Given the description of an element on the screen output the (x, y) to click on. 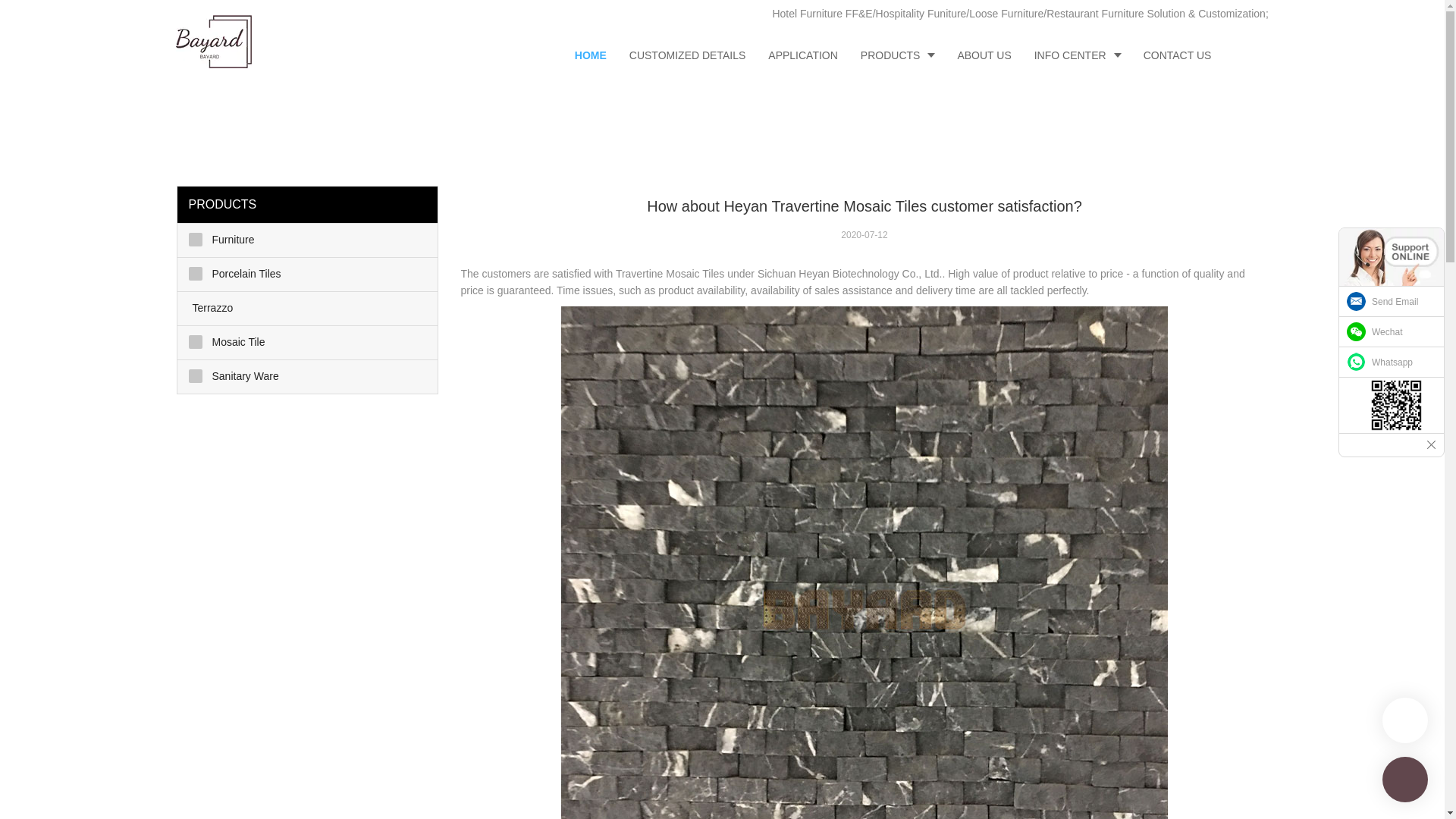
Wechat (1391, 331)
PRODUCTS (897, 55)
INFO CENTER (1077, 55)
CUSTOMIZED DETAILS (687, 55)
HOME (590, 55)
CONTACT US (1177, 55)
Furniture (307, 240)
Whatsapp (1391, 362)
Send Email (1391, 301)
ABOUT US (983, 55)
